Given the description of an element on the screen output the (x, y) to click on. 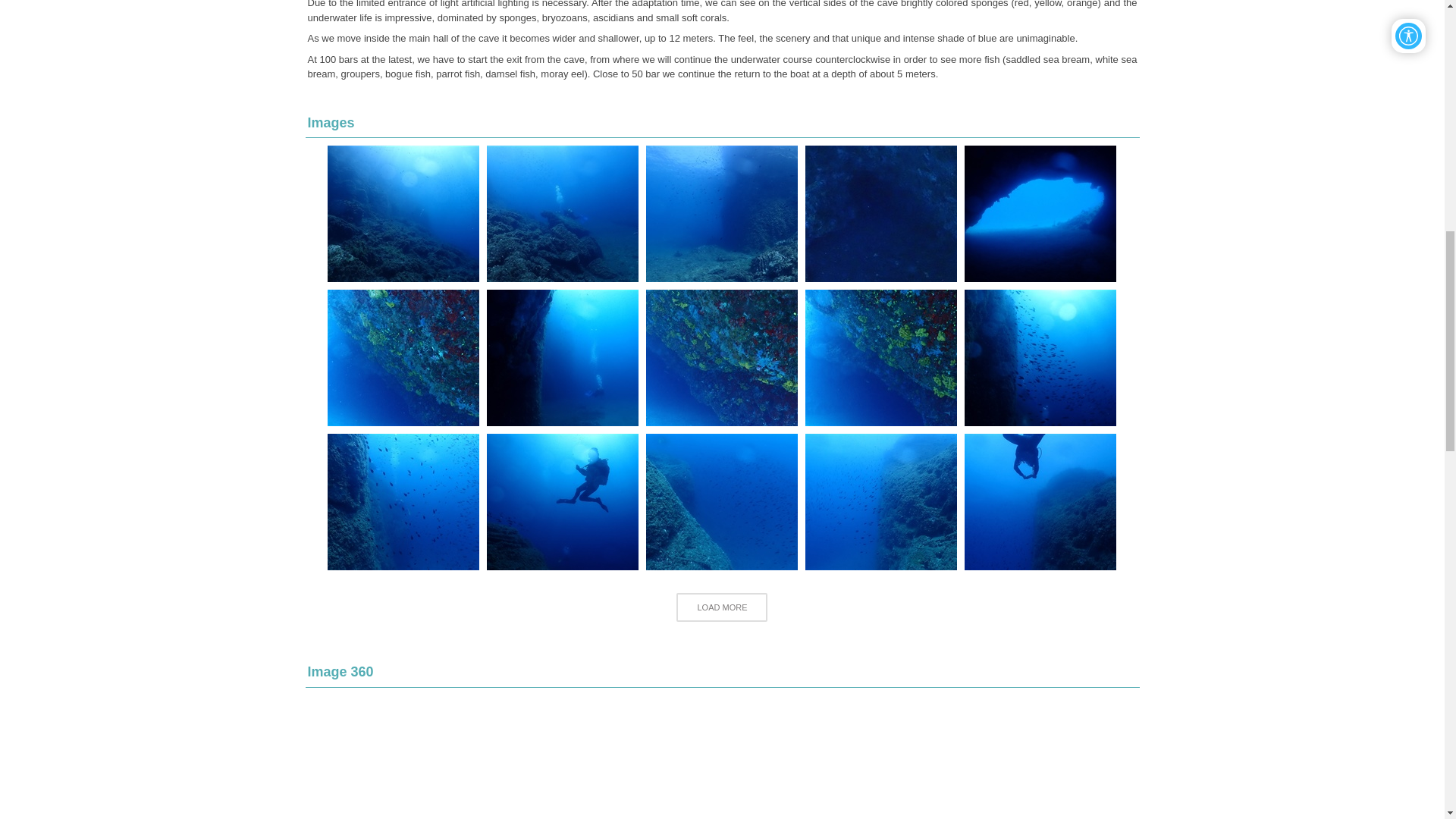
YouTube video player (722, 757)
